Given the description of an element on the screen output the (x, y) to click on. 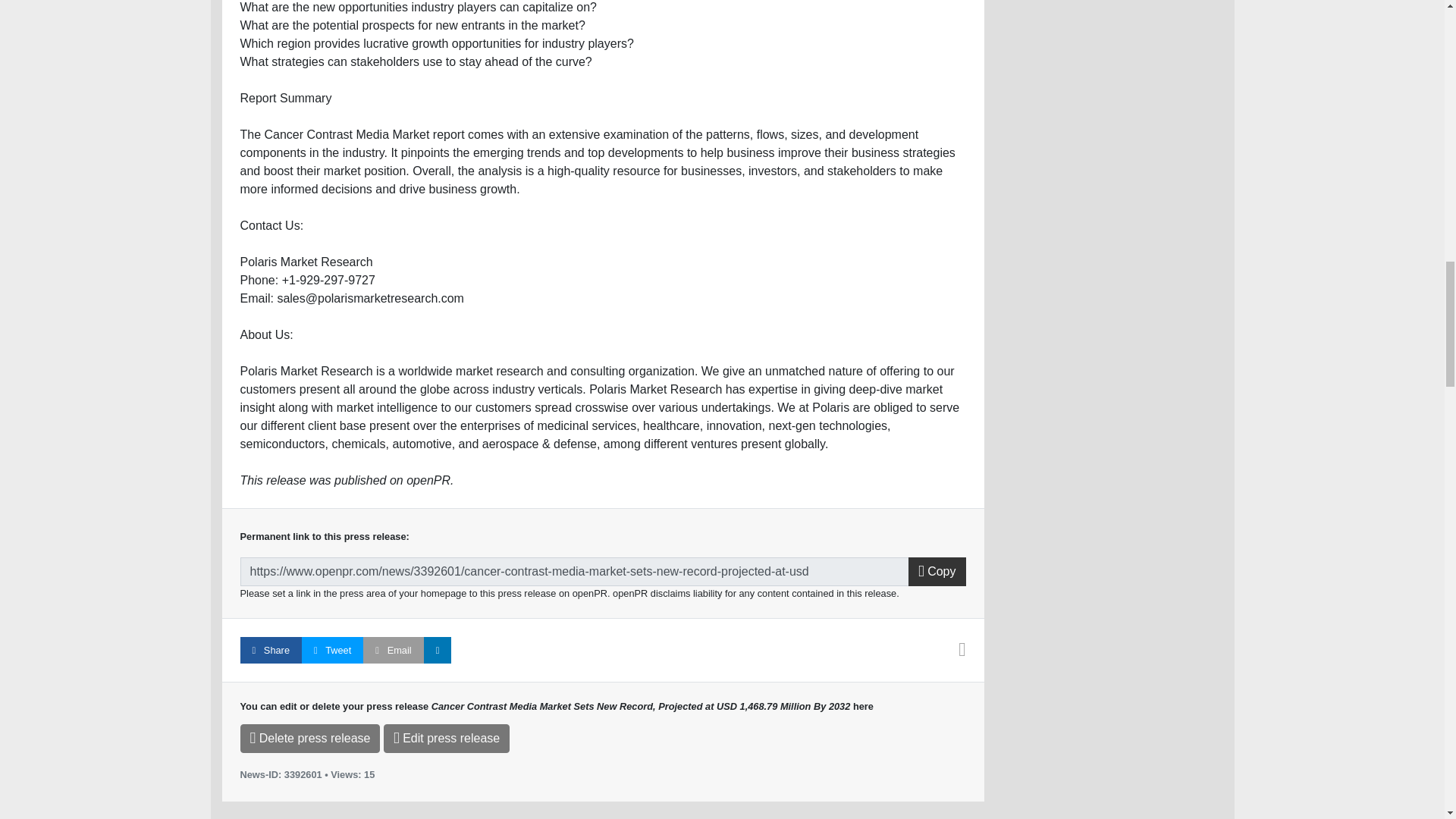
Permalink (574, 571)
Facebook (270, 650)
Email (392, 650)
LinkedIn (437, 650)
